Given the description of an element on the screen output the (x, y) to click on. 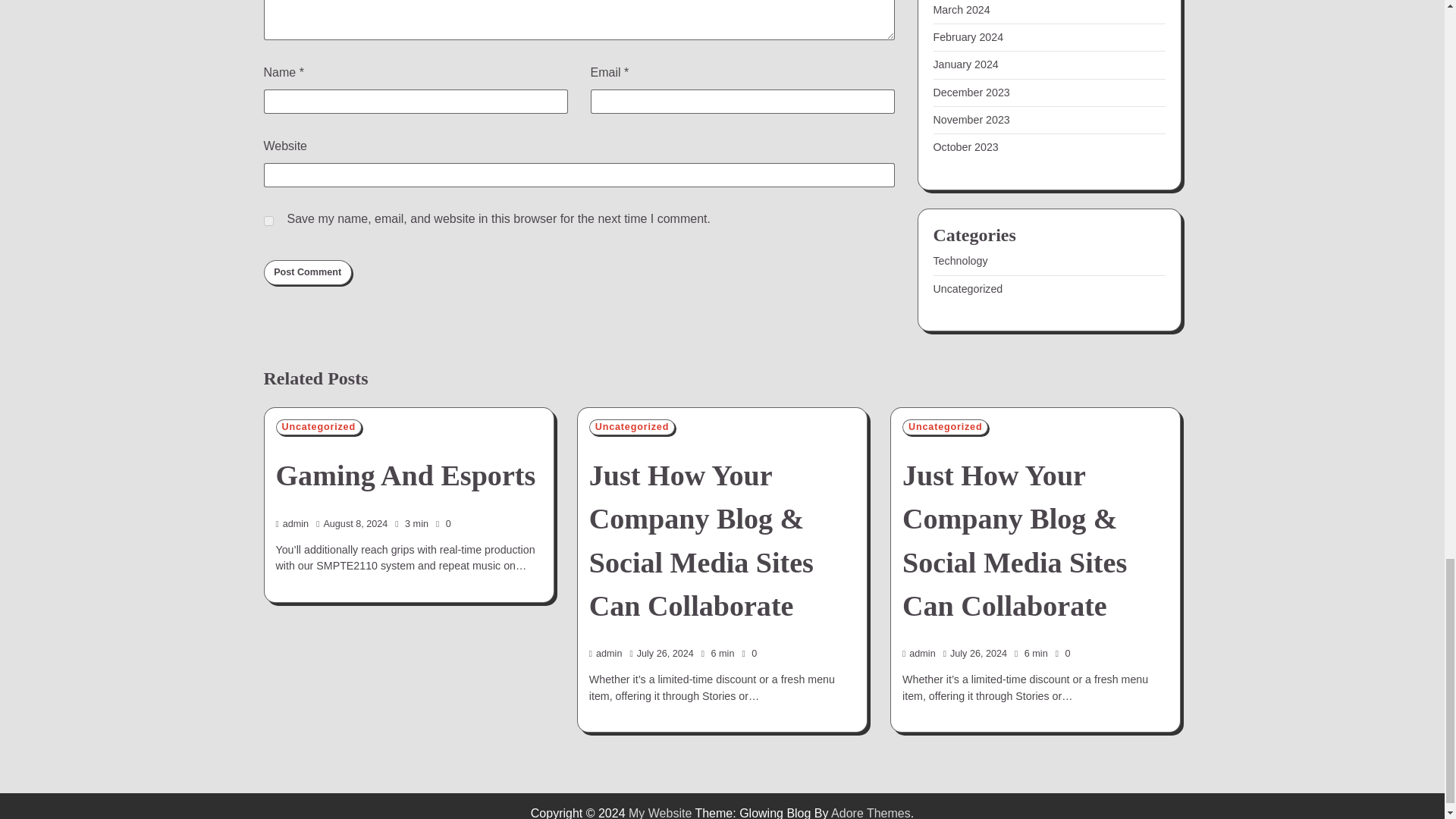
yes (268, 221)
Post Comment (307, 272)
Post Comment (307, 272)
